Given the description of an element on the screen output the (x, y) to click on. 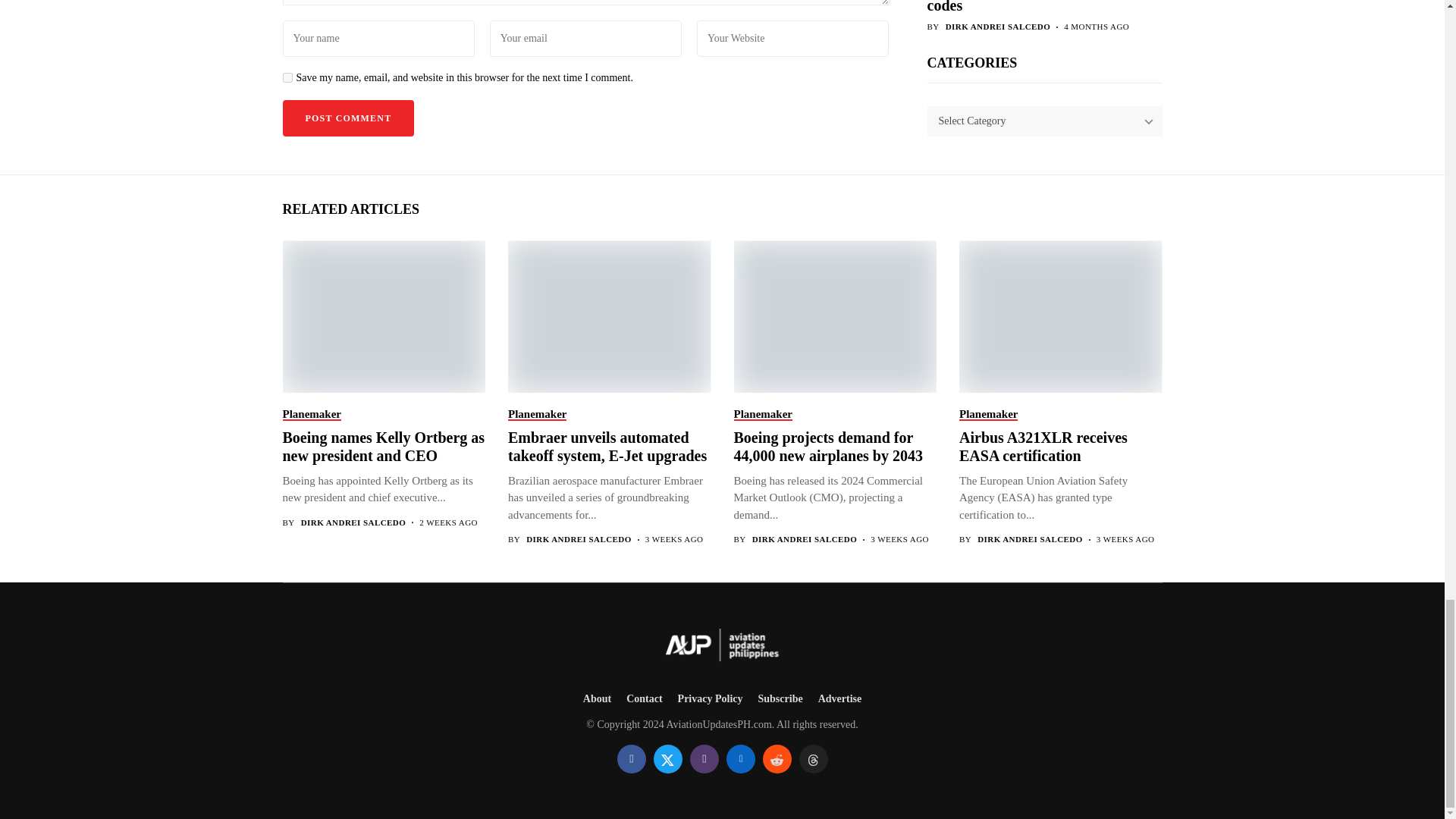
Posts by Dirk Andrei Salcedo (578, 539)
Post Comment (347, 117)
Posts by Dirk Andrei Salcedo (353, 522)
Posts by Dirk Andrei Salcedo (1029, 539)
yes (287, 77)
Posts by Dirk Andrei Salcedo (804, 539)
